Given the description of an element on the screen output the (x, y) to click on. 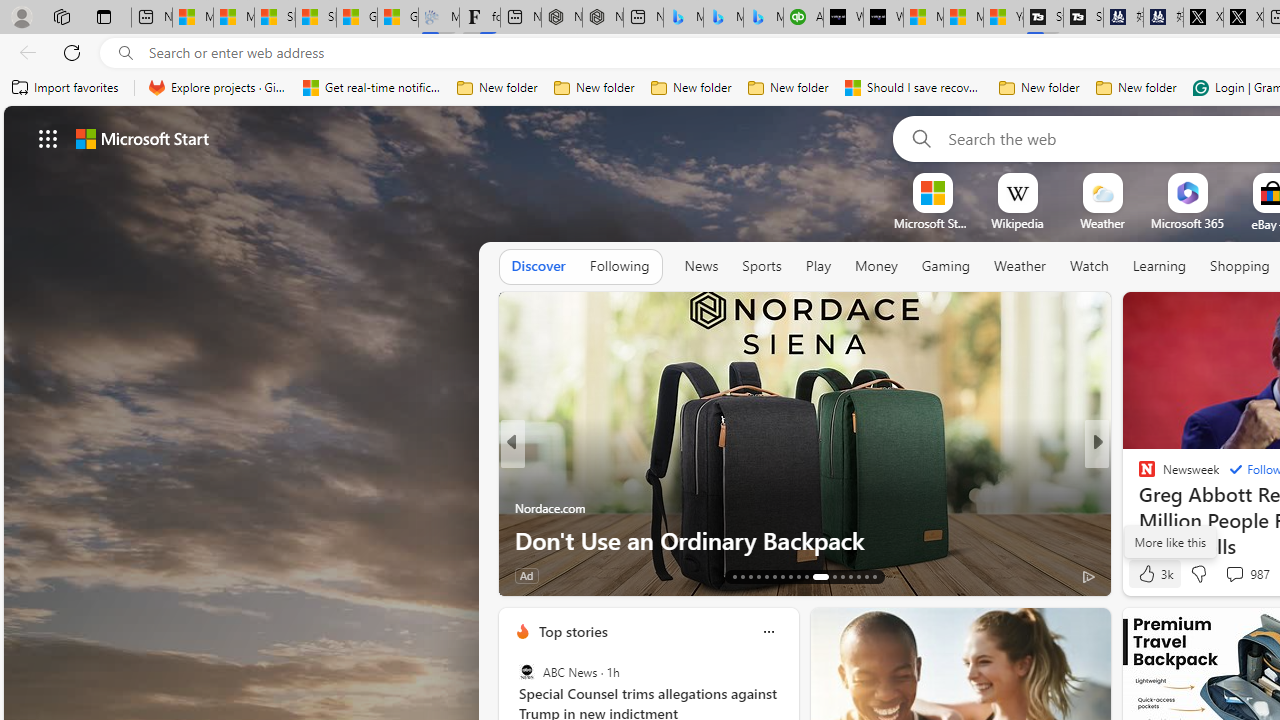
AutomationID: tab-20 (789, 576)
Nordace - #1 Japanese Best-Seller - Siena Smart Backpack (602, 17)
More options (768, 631)
14 Like (532, 574)
Following (619, 267)
AutomationID: tab-14 (742, 576)
241 Like (1151, 574)
